Given the description of an element on the screen output the (x, y) to click on. 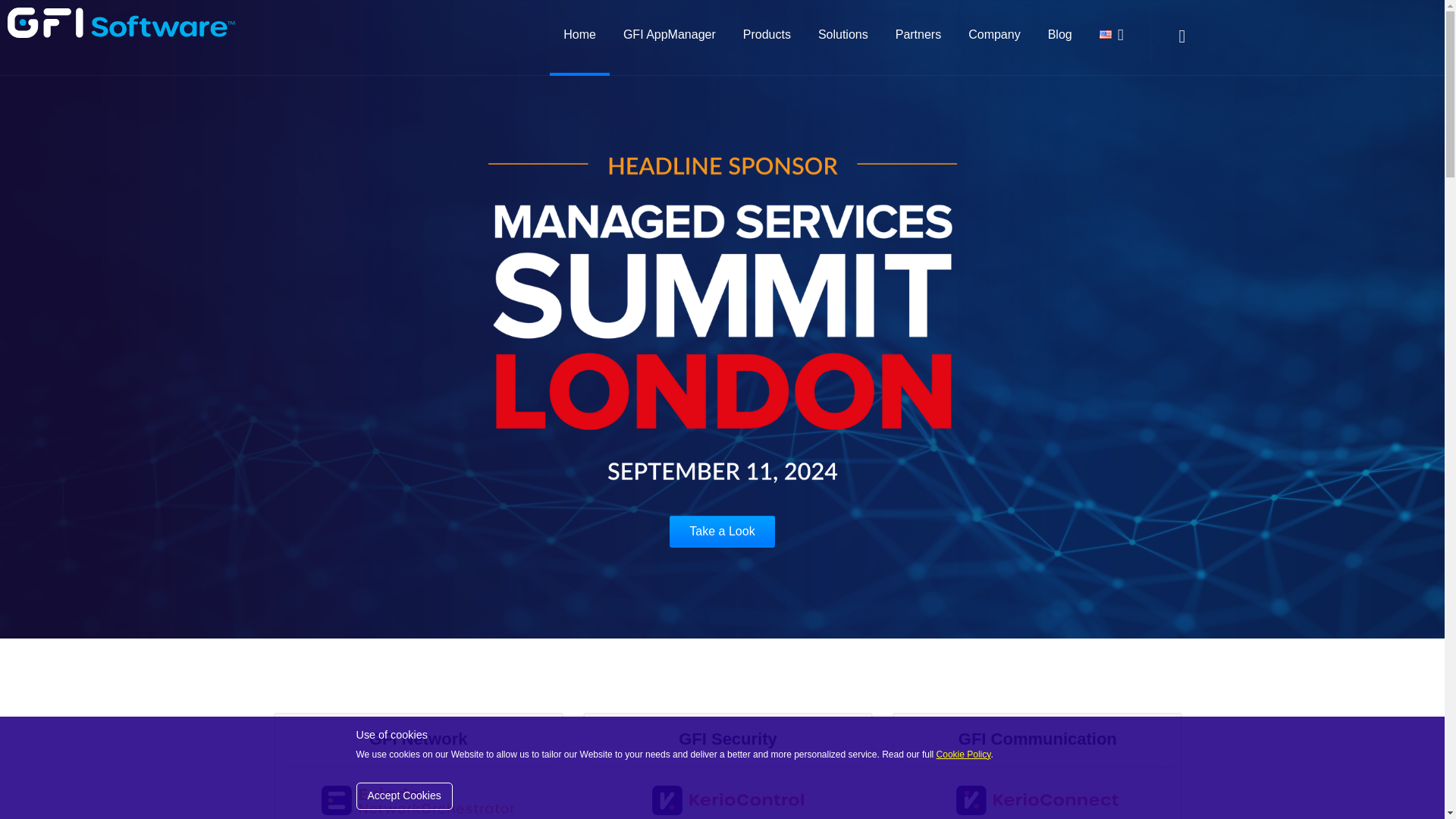
Solutions (843, 36)
Company (994, 36)
Partners (918, 36)
Take a Look (721, 531)
Go (1157, 104)
GFI AppManager (669, 36)
Products (767, 36)
